Given the description of an element on the screen output the (x, y) to click on. 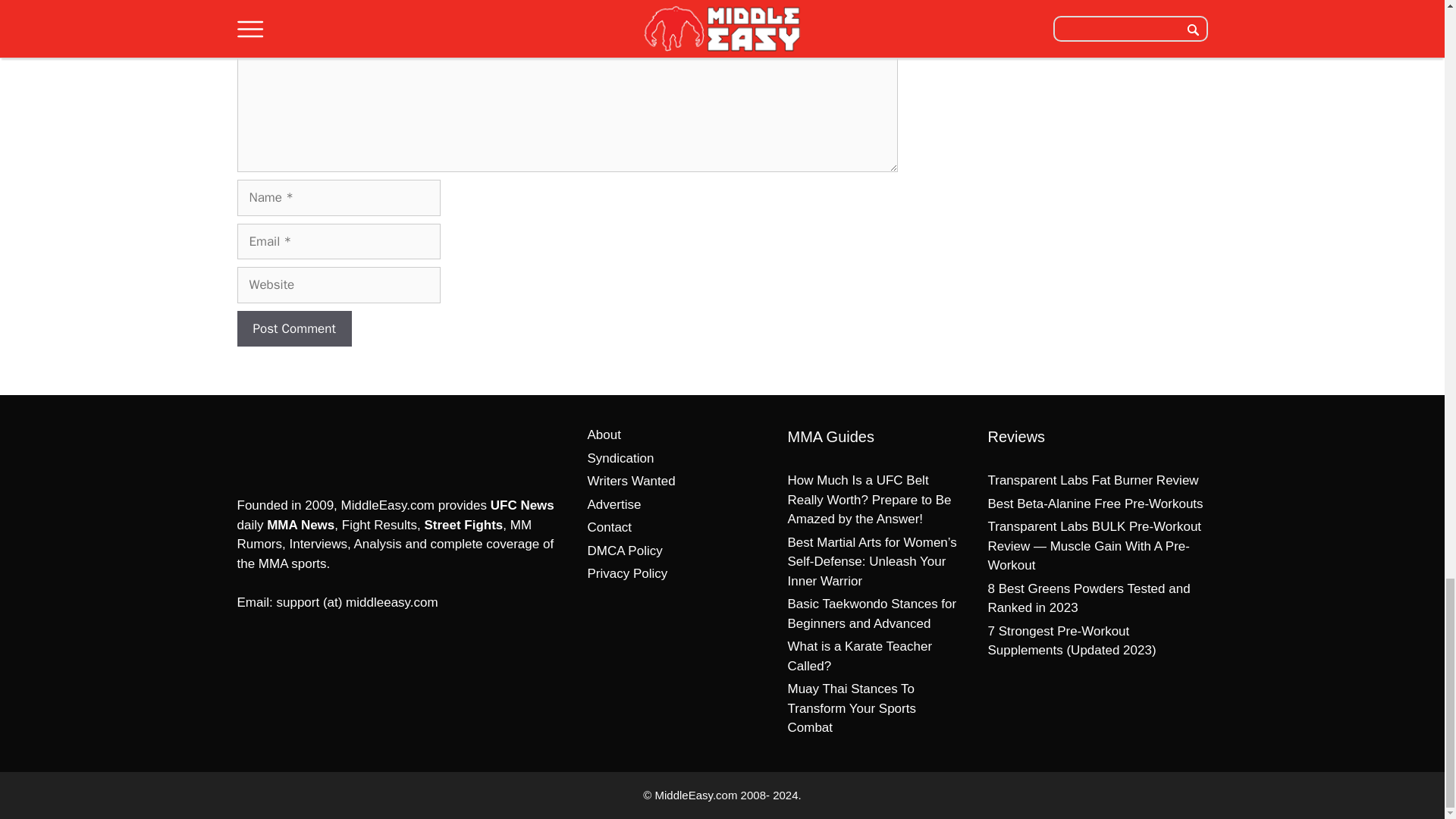
MiddlEeasy: MMA News (314, 447)
Post Comment (292, 329)
